Given the description of an element on the screen output the (x, y) to click on. 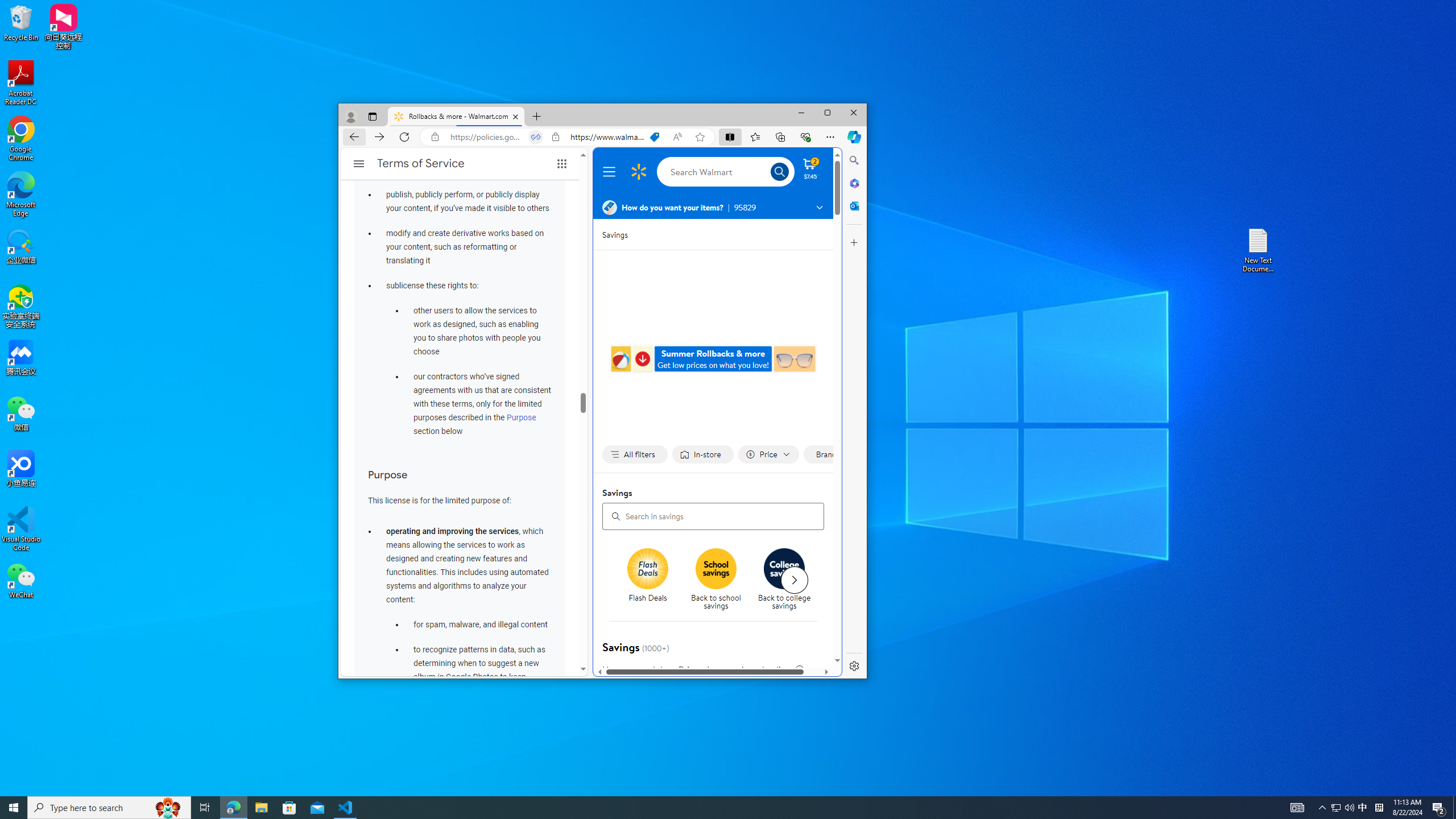
Type here to search (108, 807)
Google Chrome (21, 138)
Flash deals Flash Deals (647, 575)
Filter by Price not applied, activate to change (768, 454)
Back to School savings Back to school savings (715, 579)
Back to school savings (719, 579)
Search in savings (713, 516)
Back to college savings (788, 579)
Task View (204, 807)
